Given the description of an element on the screen output the (x, y) to click on. 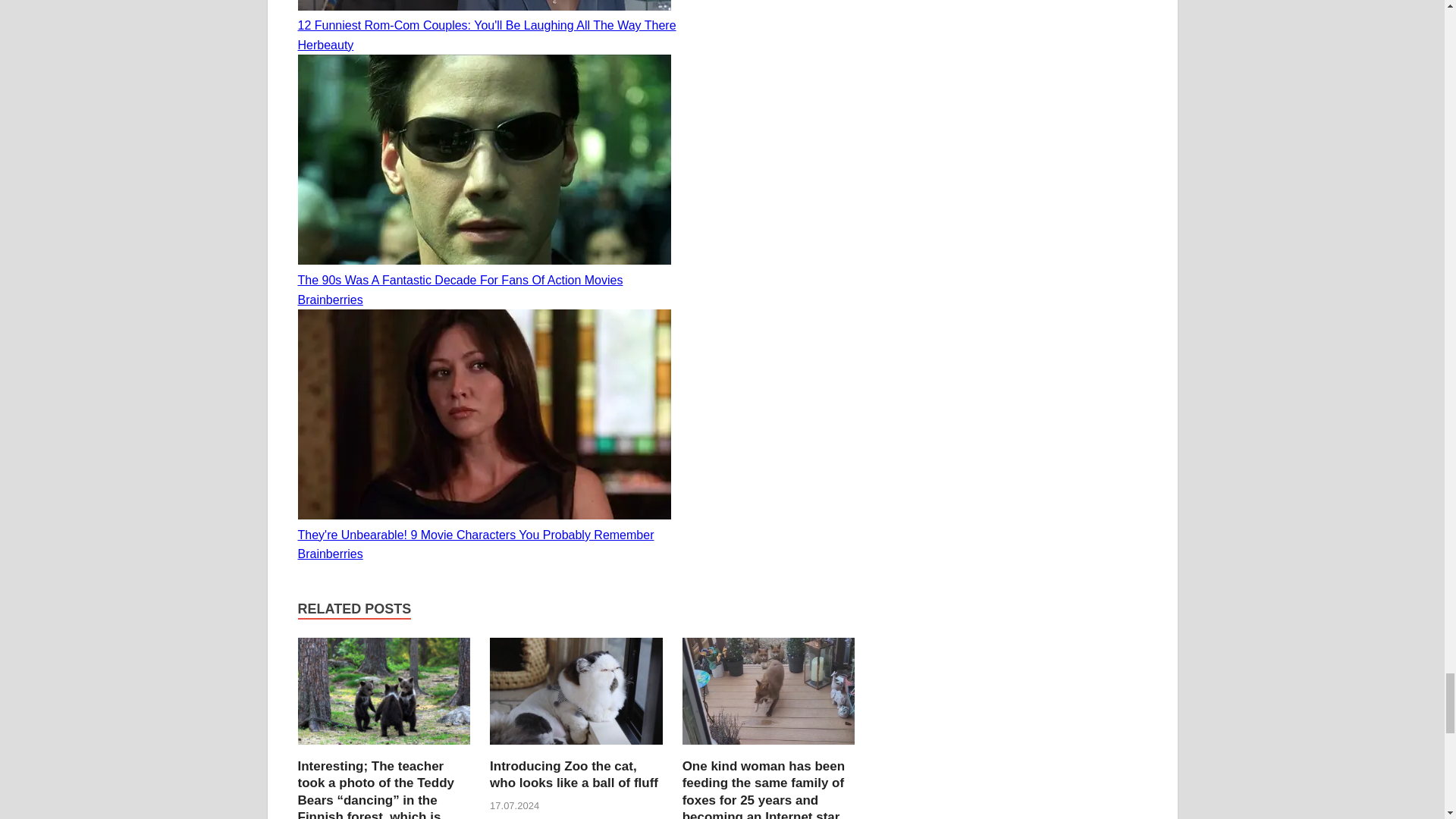
Introducing Zoo the cat, who looks like a ball of fluff (573, 774)
Introducing Zoo the cat, who looks like a ball of fluff (575, 748)
Introducing Zoo the cat, who looks like a ball of fluff (573, 774)
